Given the description of an element on the screen output the (x, y) to click on. 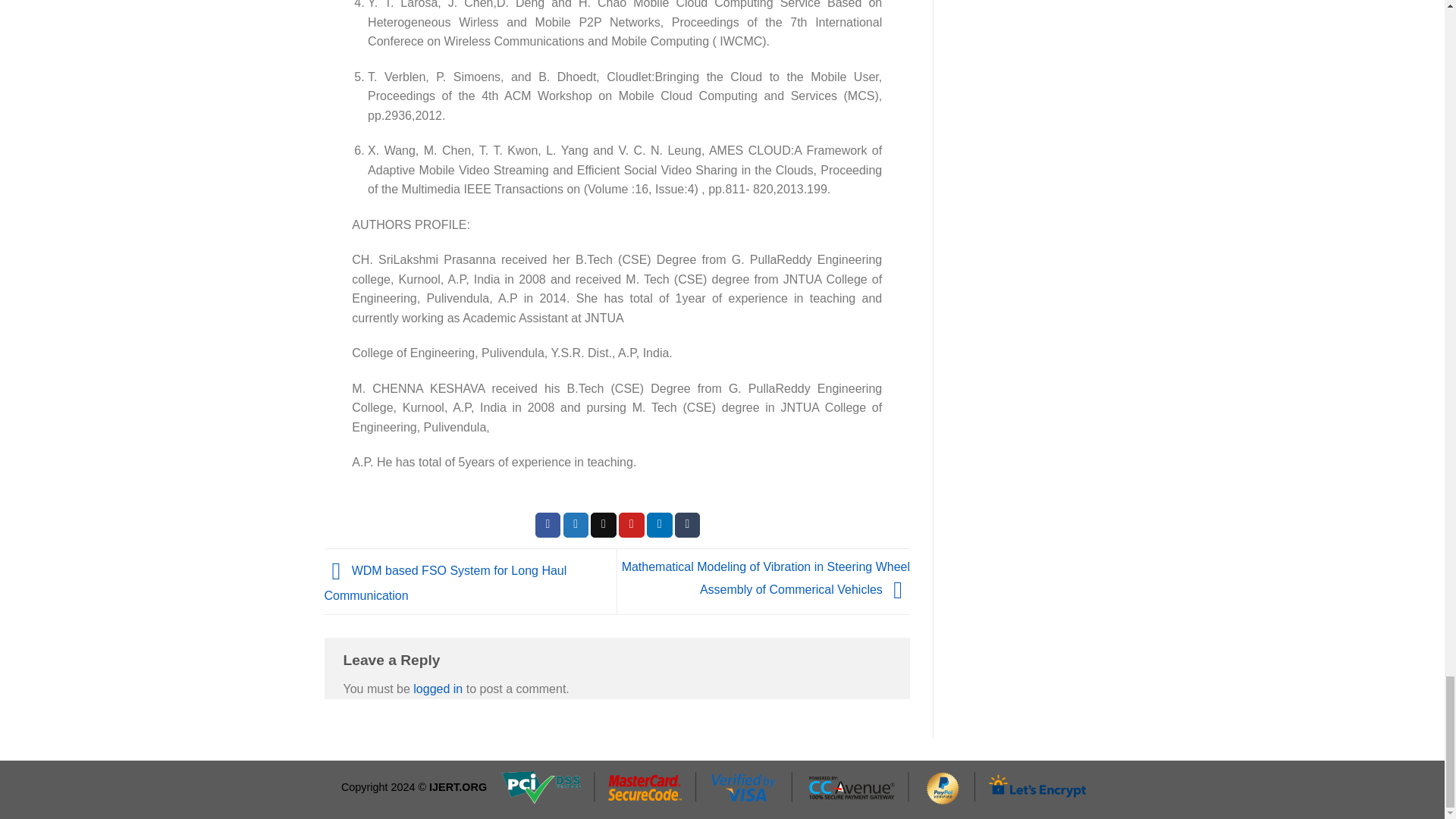
Email to a Friend (603, 525)
Pin on Pinterest (631, 525)
Share on Facebook (547, 525)
Share on Tumblr (687, 525)
Share on LinkedIn (659, 525)
Share on Twitter (576, 525)
